Given the description of an element on the screen output the (x, y) to click on. 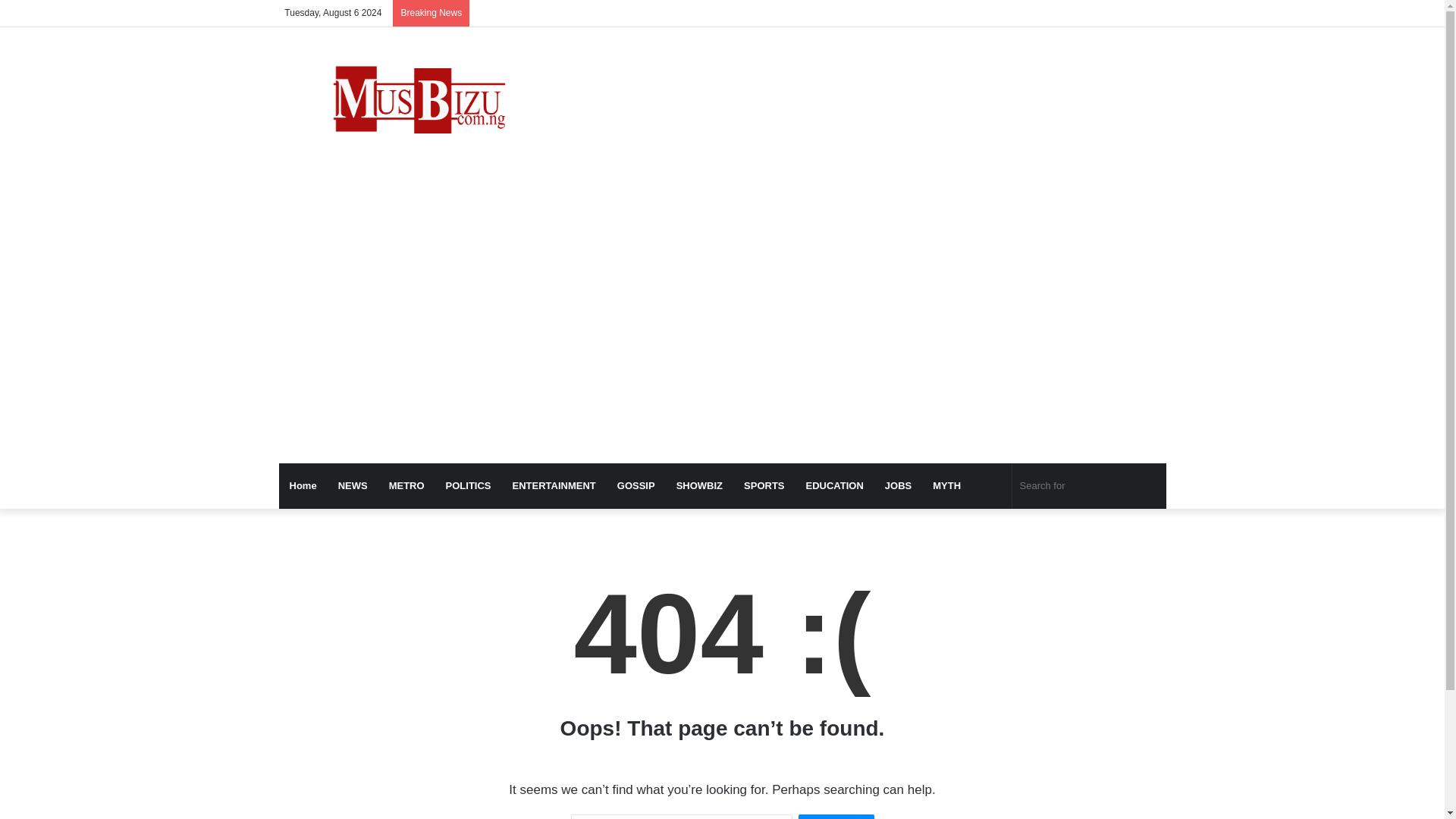
SHOWBIZ (699, 485)
Musbizu (419, 103)
Search for (1088, 485)
EDUCATION (834, 485)
Search (835, 816)
Home (303, 485)
JOBS (898, 485)
NEWS (352, 485)
METRO (406, 485)
ENTERTAINMENT (554, 485)
SPORTS (763, 485)
Search (835, 816)
MYTH (946, 485)
POLITICS (468, 485)
